Given the description of an element on the screen output the (x, y) to click on. 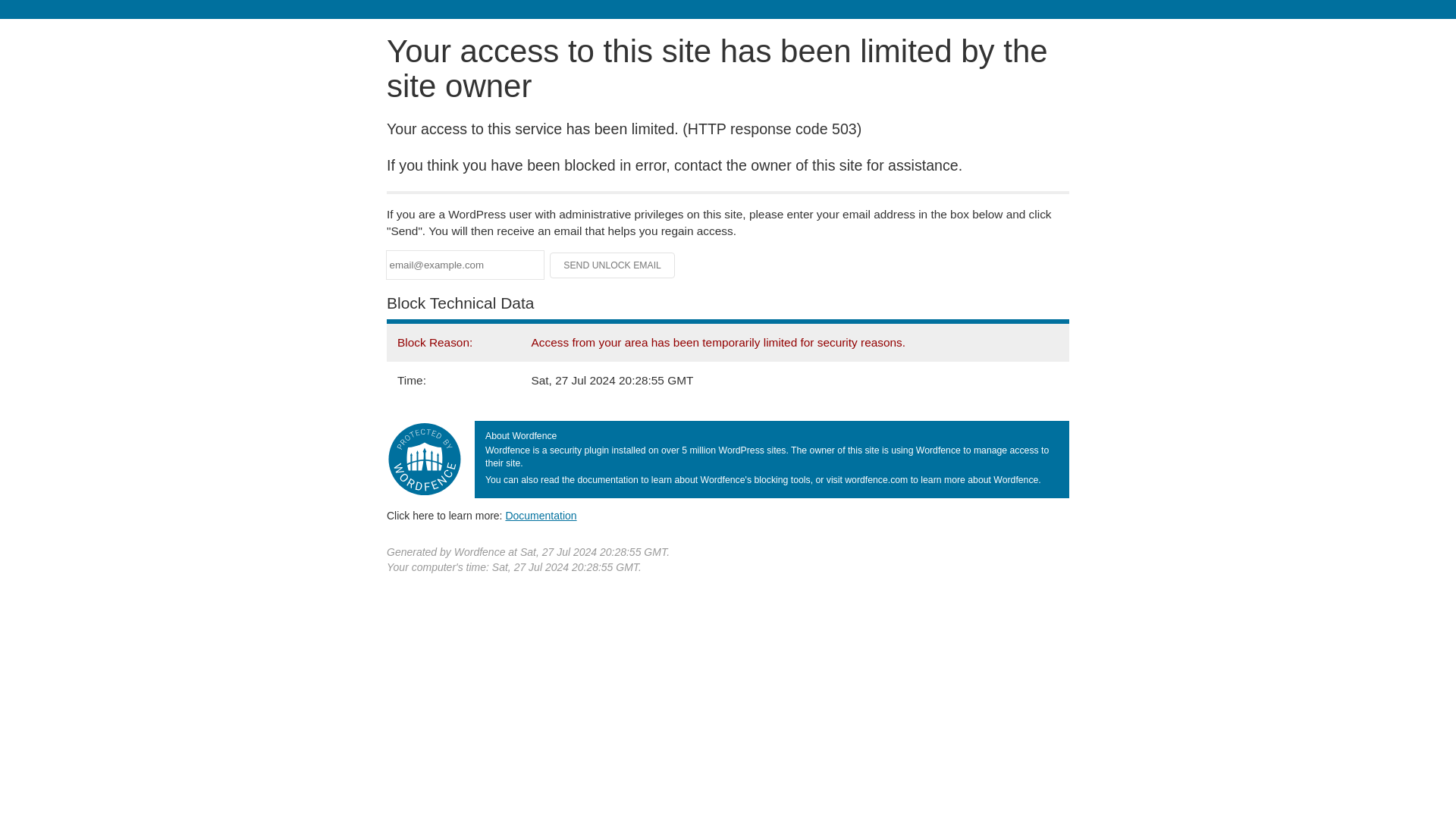
Documentation (540, 515)
Send Unlock Email (612, 265)
Send Unlock Email (612, 265)
